Given the description of an element on the screen output the (x, y) to click on. 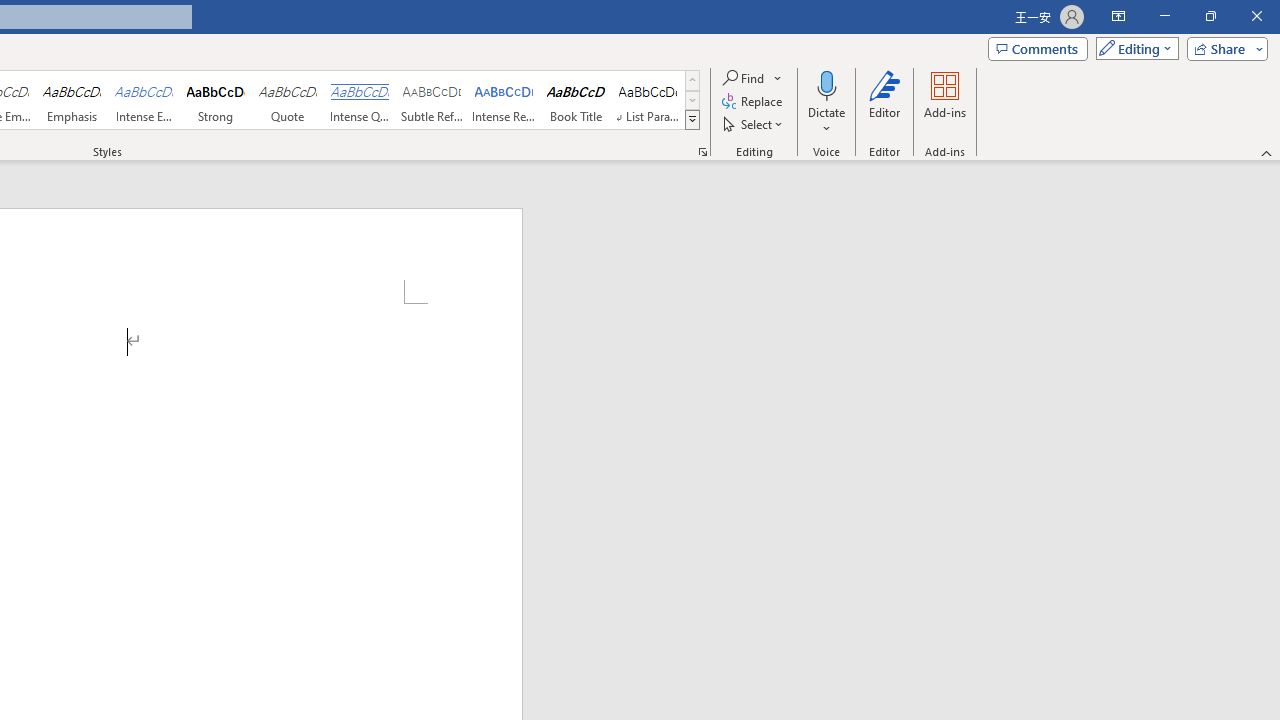
Book Title (575, 100)
Strong (216, 100)
Emphasis (71, 100)
